Given the description of an element on the screen output the (x, y) to click on. 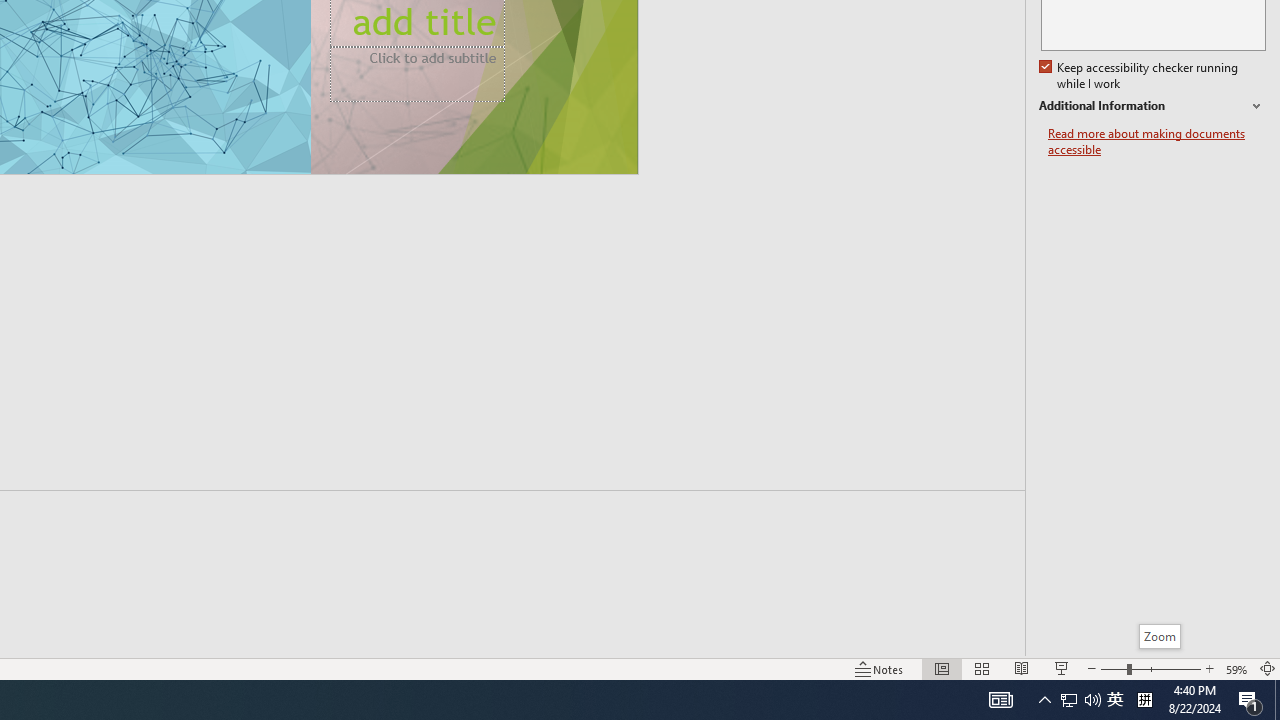
Zoom 59% (1236, 668)
Subtitle TextBox (417, 74)
Keep accessibility checker running while I work (1140, 76)
Additional Information (1152, 106)
Read more about making documents accessible (1156, 142)
